Given the description of an element on the screen output the (x, y) to click on. 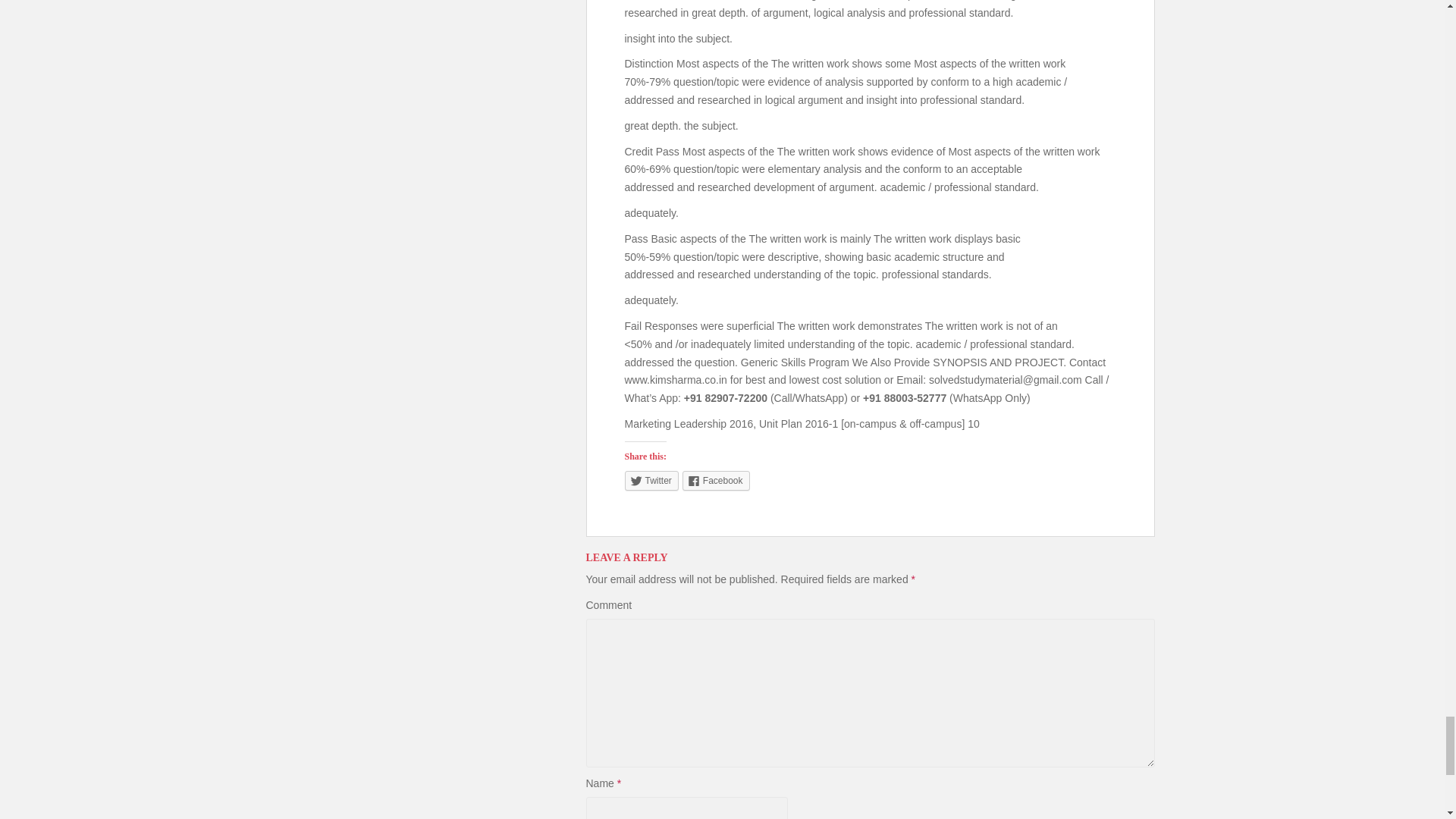
Twitter (651, 480)
Click to share on Facebook (715, 480)
Facebook (715, 480)
Click to share on Twitter (651, 480)
